Given the description of an element on the screen output the (x, y) to click on. 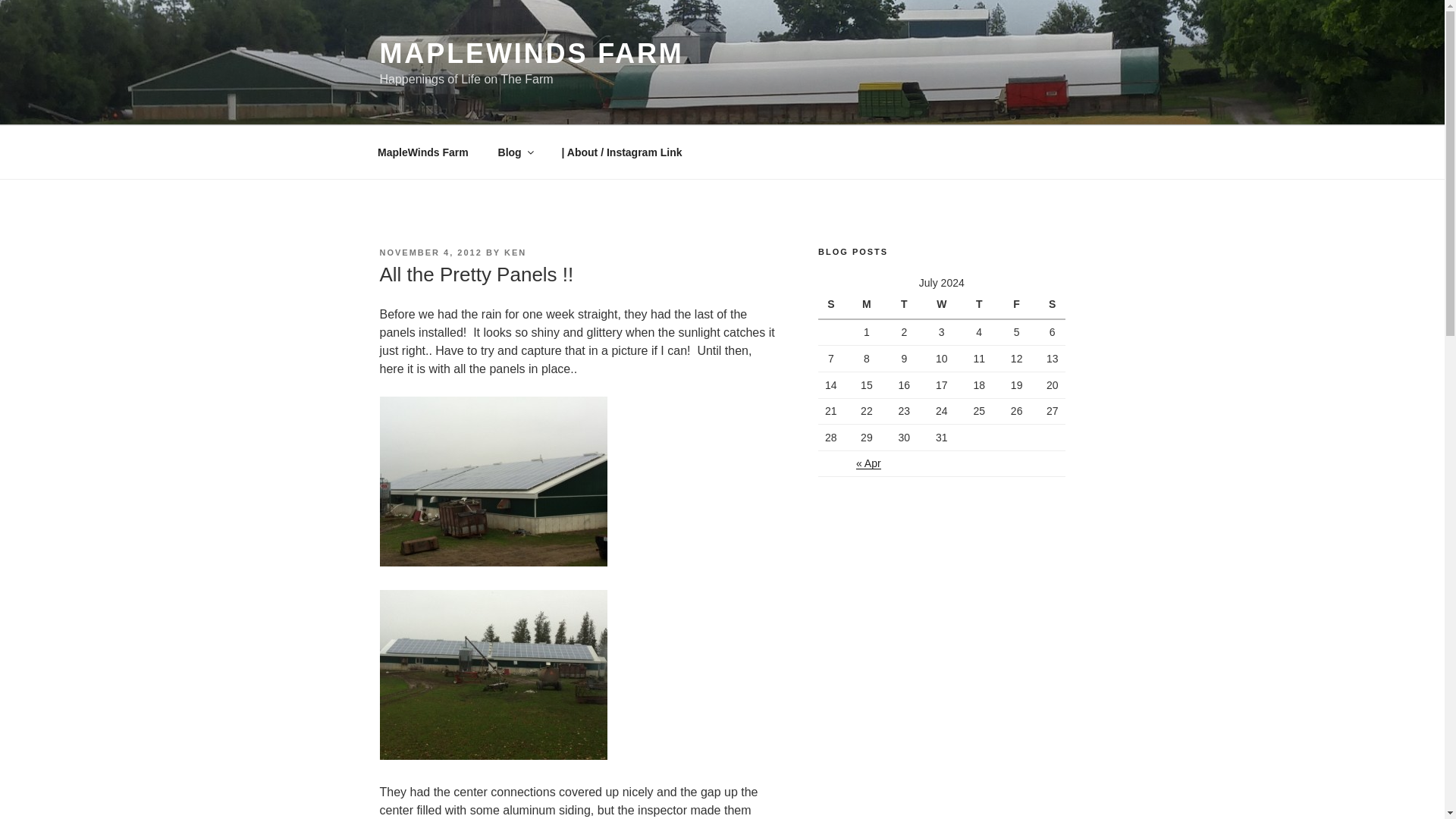
Wednesday (941, 305)
MapleWinds Farm (422, 151)
Tuesday (904, 305)
Saturday (1049, 305)
all panels up (492, 674)
KEN (514, 252)
NOVEMBER 4, 2012 (429, 252)
Sunday (832, 305)
MAPLEWINDS FARM (530, 52)
Monday (866, 305)
Friday (1016, 305)
all panels up2 (492, 481)
Thursday (978, 305)
Blog (514, 151)
